Given the description of an element on the screen output the (x, y) to click on. 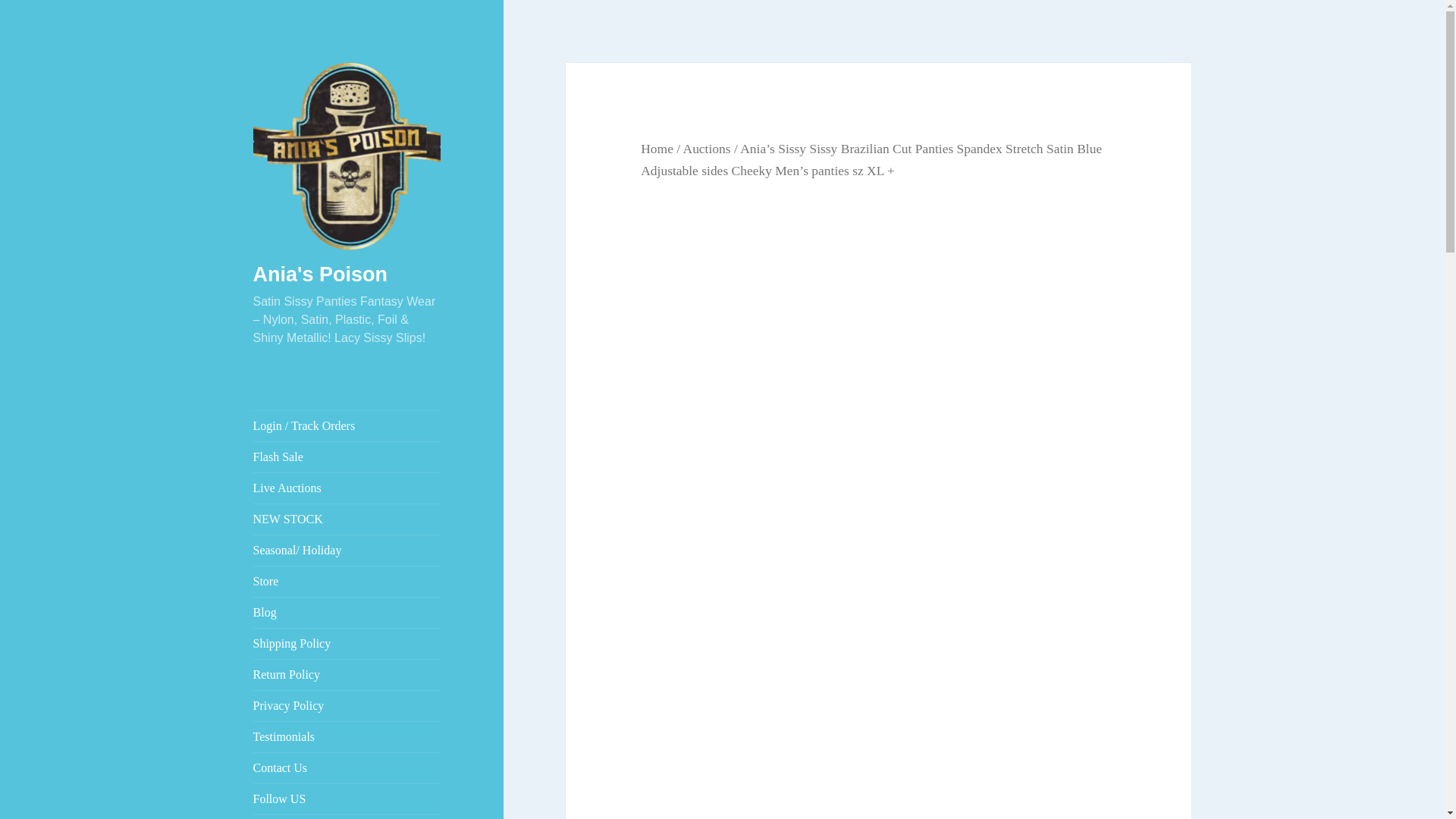
Blog (347, 612)
Testimonials (347, 736)
Ania's Poison (320, 273)
Store (347, 581)
Shipping Policy (347, 643)
Care Instructions (347, 816)
Flash Sale (347, 457)
Privacy Policy (347, 706)
NEW STOCK (347, 519)
Contact Us (347, 767)
Follow US (347, 798)
Live Auctions (347, 488)
Return Policy (347, 675)
